Given the description of an element on the screen output the (x, y) to click on. 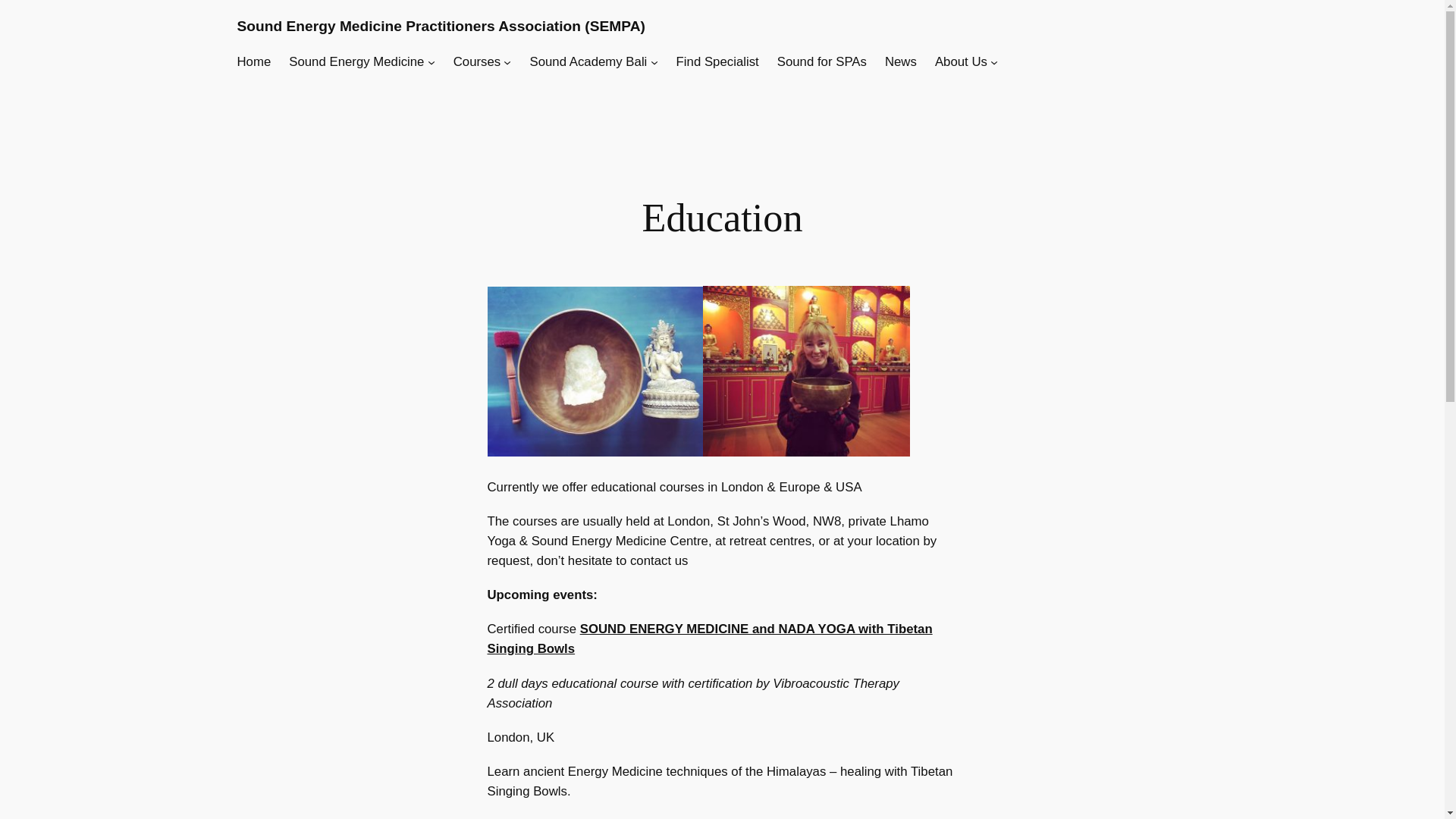
Sound for SPAs (821, 62)
News (901, 62)
Sound Energy Medicine (355, 62)
Home (252, 62)
Sound Academy Bali (587, 62)
About Us (960, 62)
Find Specialist (717, 62)
Courses (476, 62)
